Given the description of an element on the screen output the (x, y) to click on. 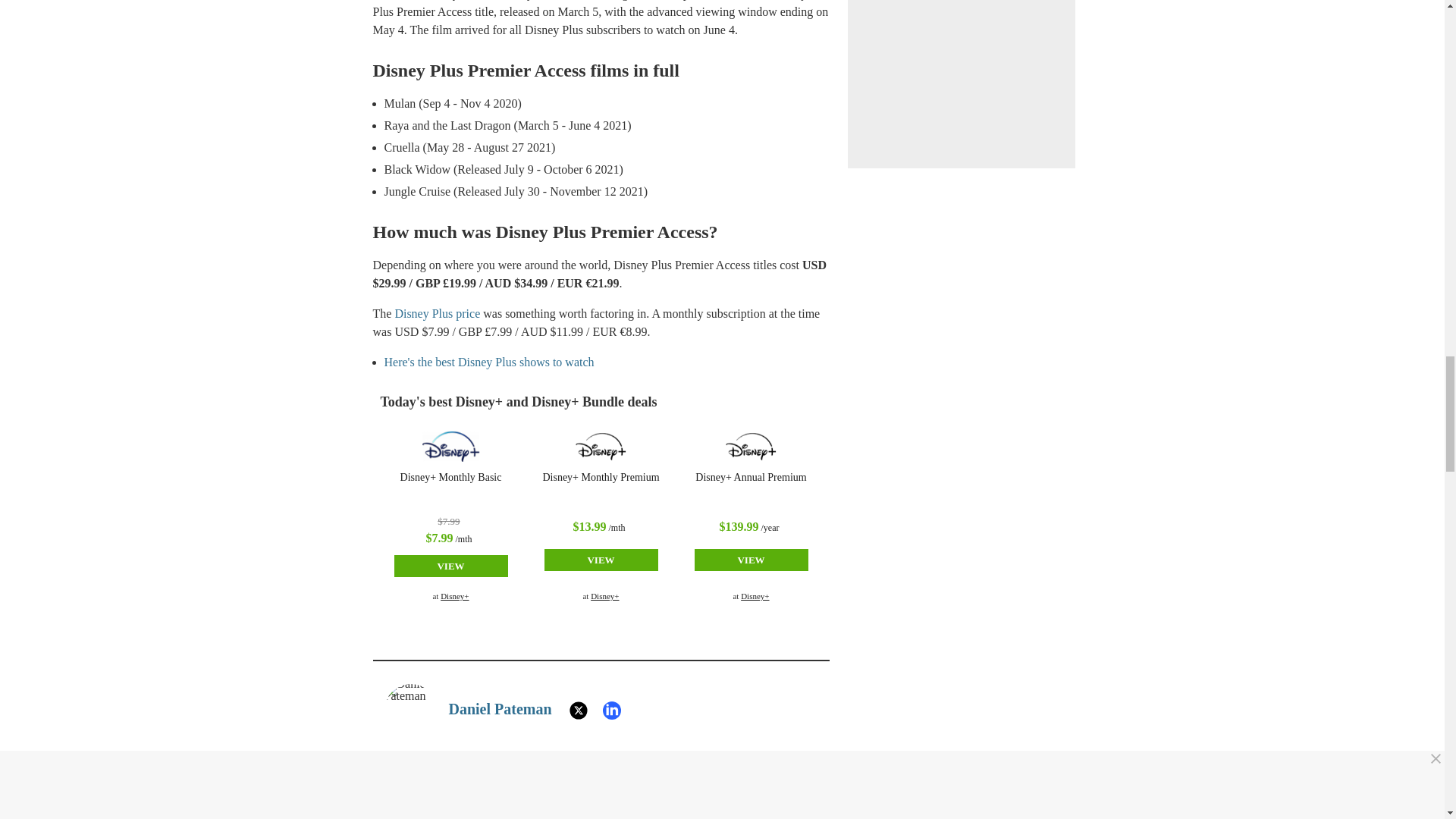
Disney (450, 446)
